Given the description of an element on the screen output the (x, y) to click on. 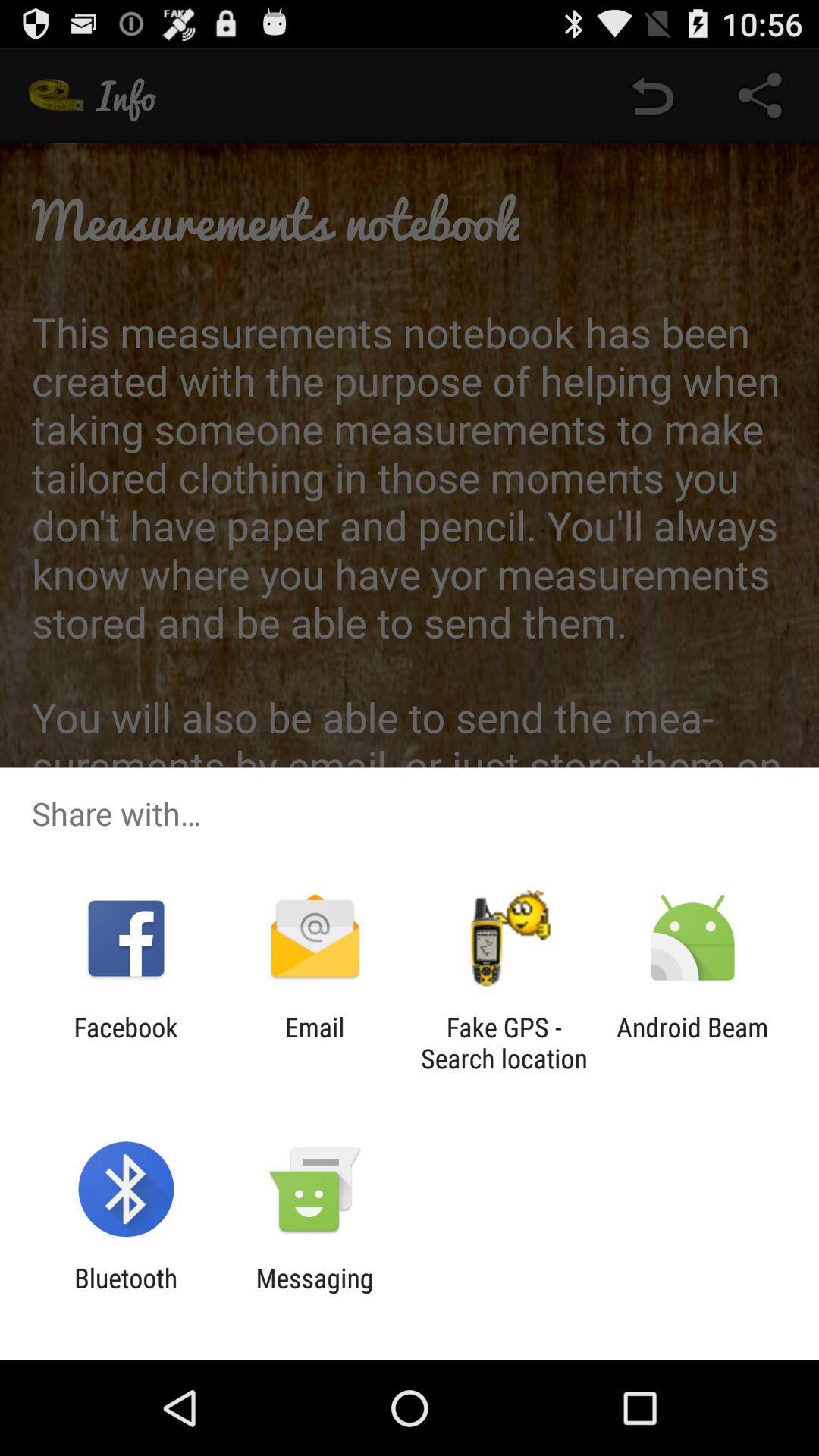
launch item at the bottom right corner (692, 1042)
